Given the description of an element on the screen output the (x, y) to click on. 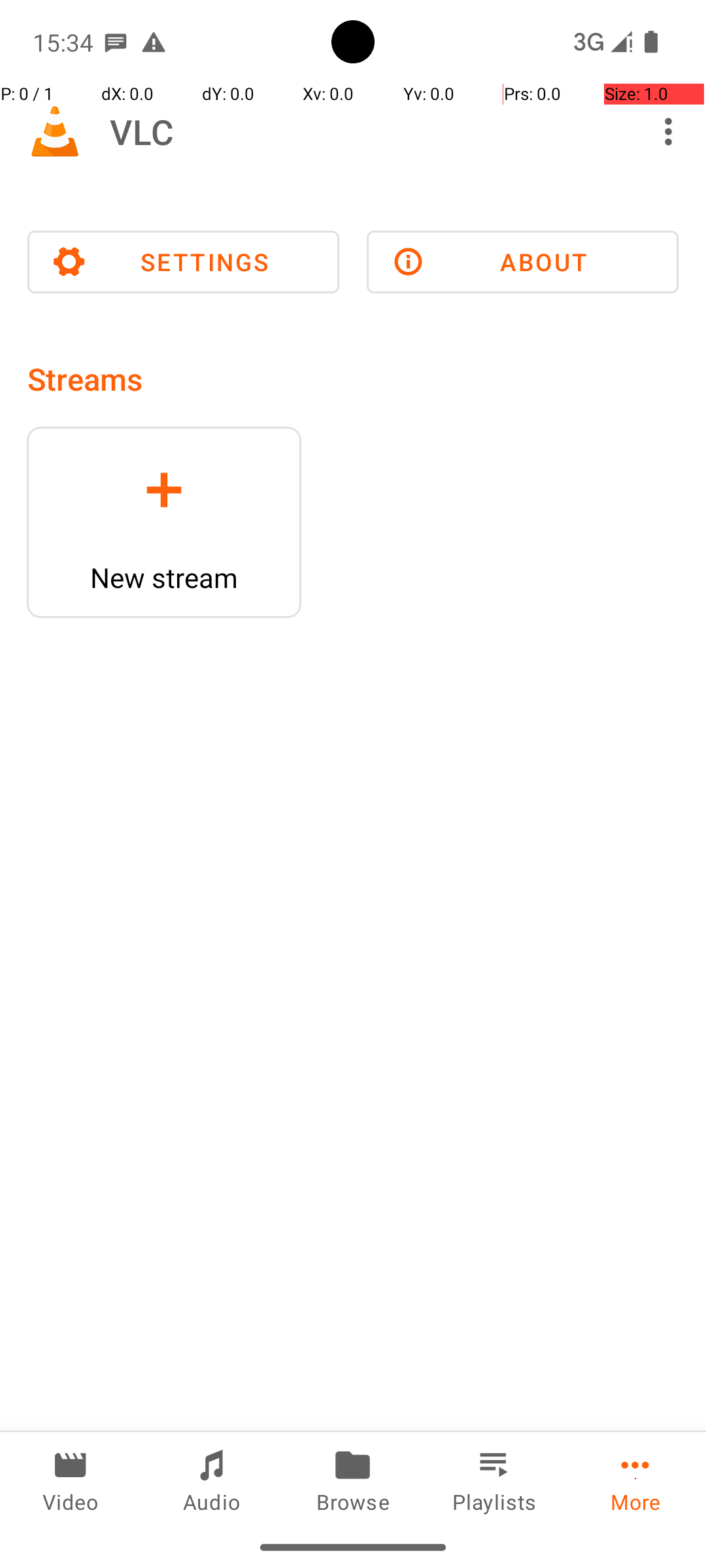
SETTINGS Element type: android.widget.Button (183, 261)
ABOUT Element type: android.widget.Button (522, 261)
Streams Element type: android.widget.TextView (84, 378)
New stream Element type: android.widget.TextView (163, 576)
